Given the description of an element on the screen output the (x, y) to click on. 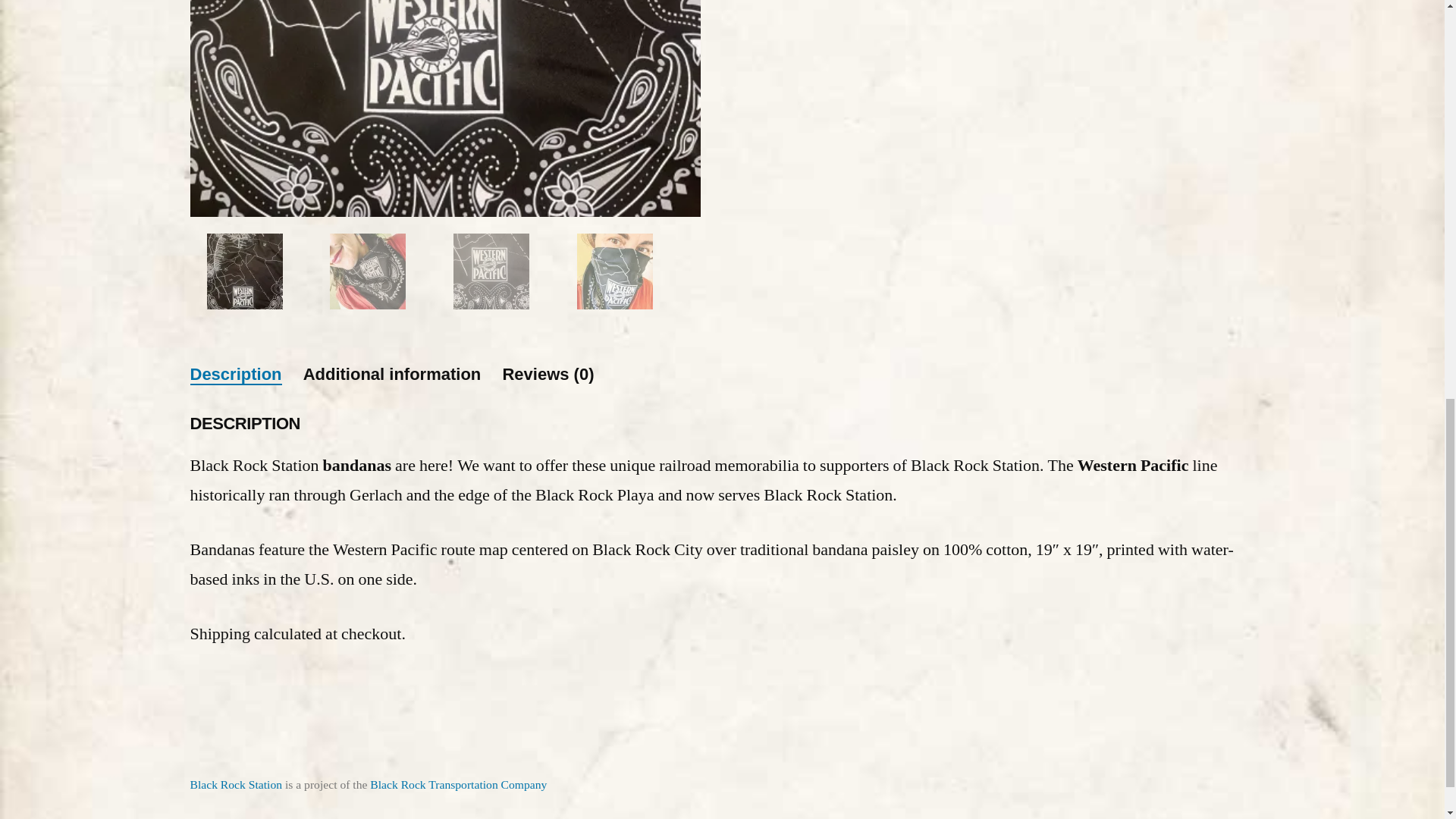
Bandaba-logo-and-map (444, 108)
Description (235, 374)
Black Rock Transportation Company (458, 784)
Bandana-wth-molly (955, 49)
Black Rock Station (235, 784)
Additional information (391, 374)
